Given the description of an element on the screen output the (x, y) to click on. 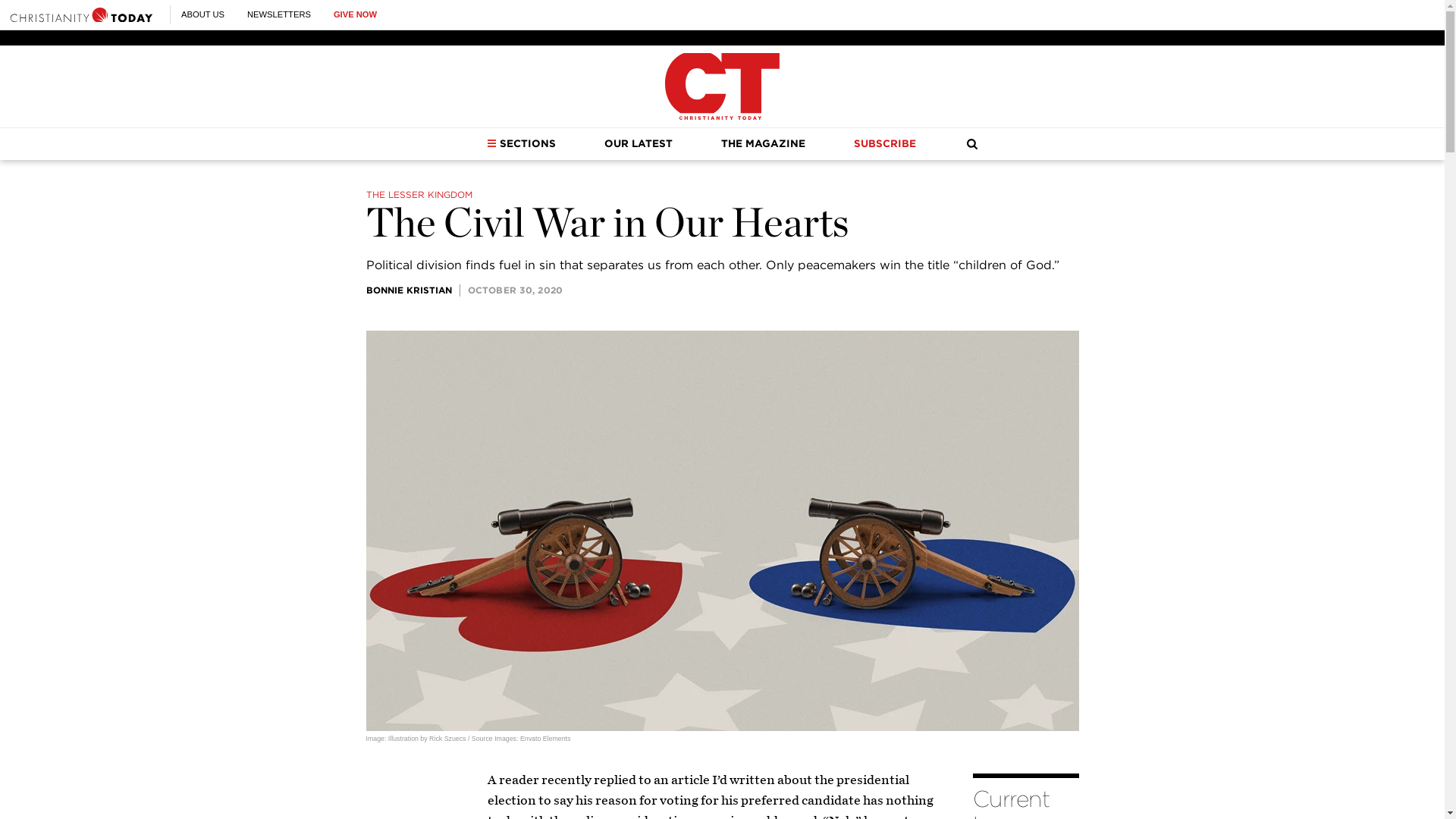
SECTIONS (521, 143)
Christianity Today (721, 86)
Sections Dropdown (491, 143)
ABOUT US (202, 14)
GIVE NOW (355, 14)
NEWSLETTERS (278, 14)
Christianity Today (81, 14)
